Given the description of an element on the screen output the (x, y) to click on. 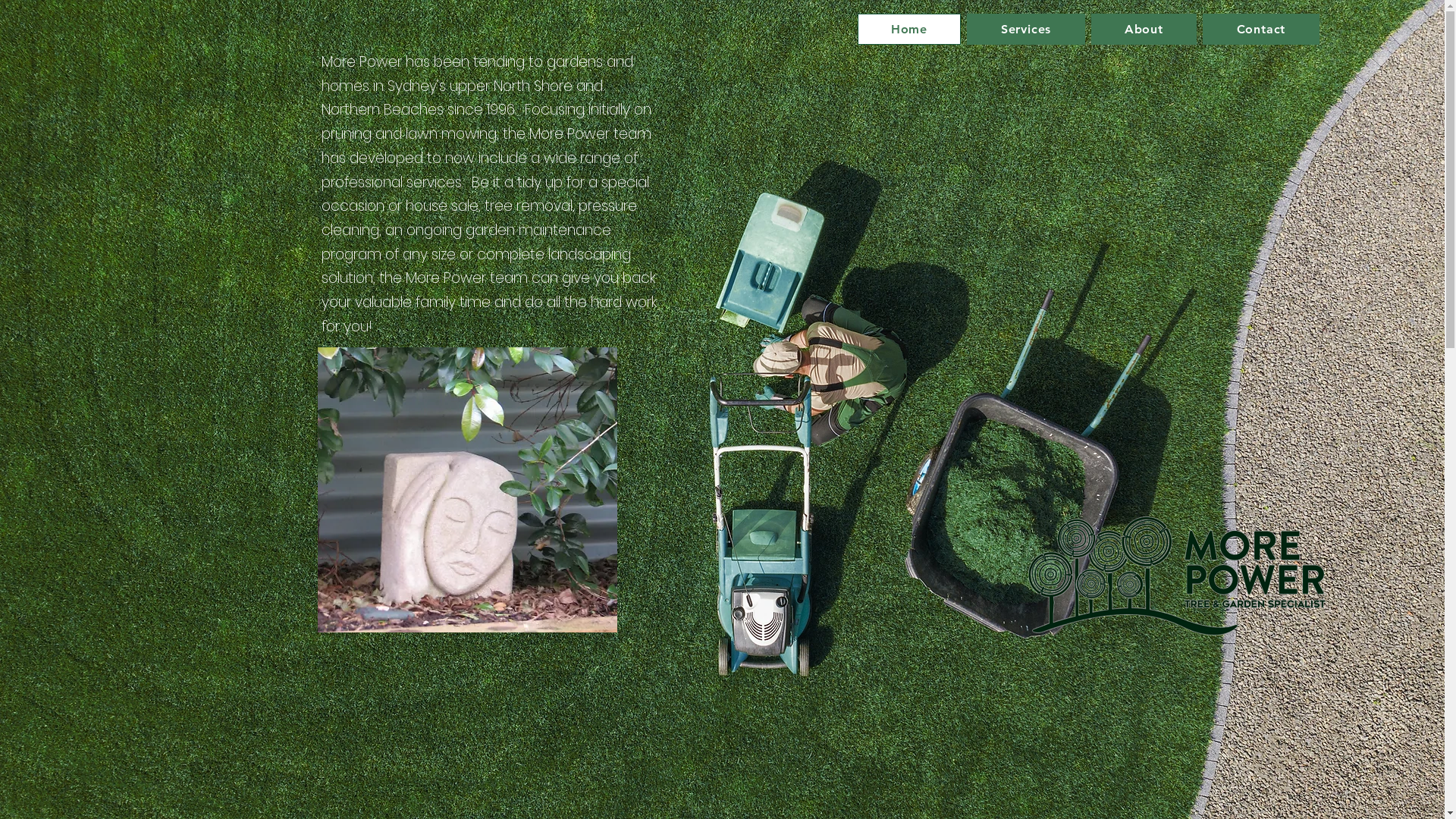
Services Element type: text (1025, 28)
Home Element type: text (908, 28)
About Element type: text (1144, 28)
Contact Element type: text (1260, 28)
